Given the description of an element on the screen output the (x, y) to click on. 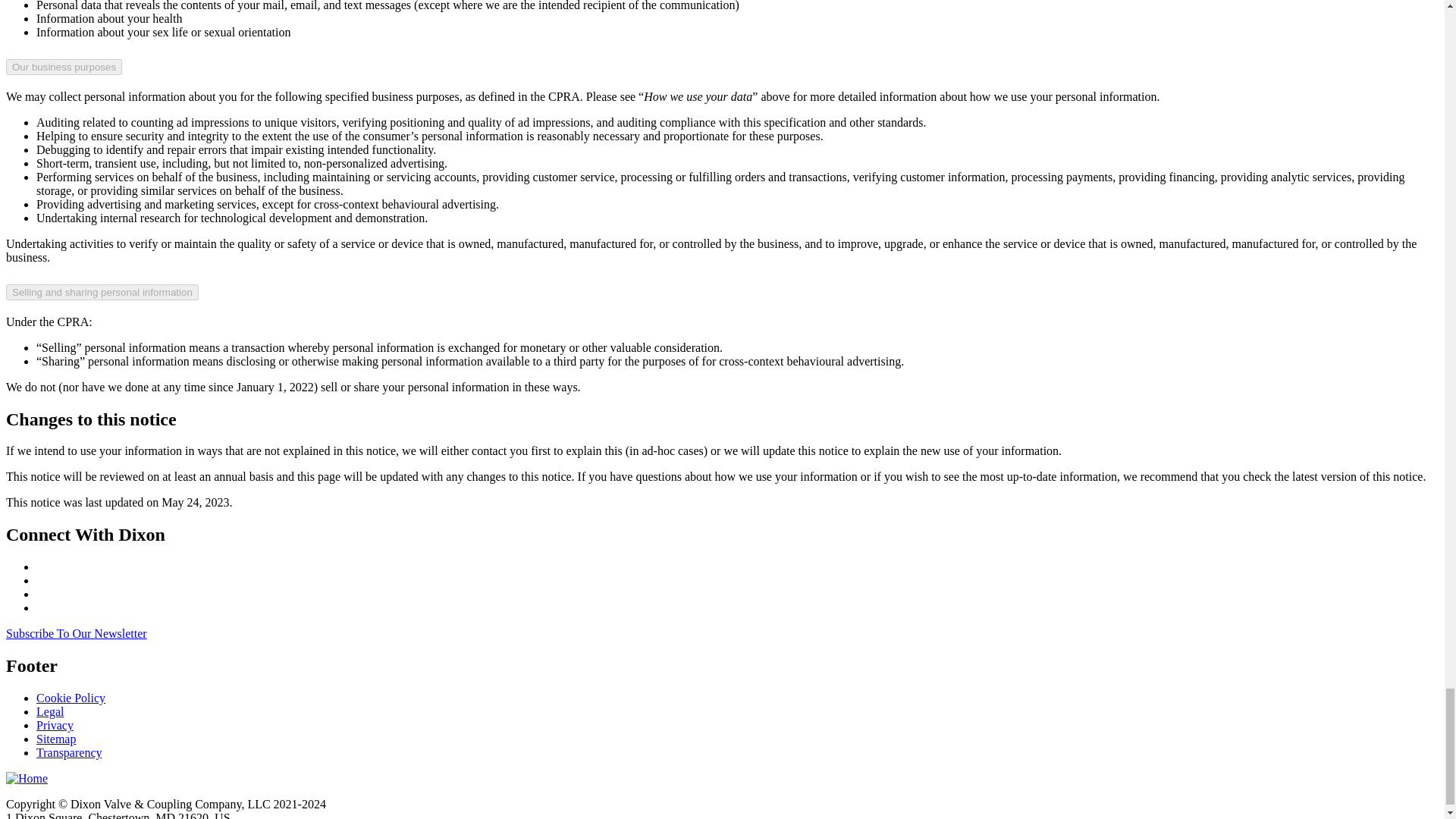
Legal Page (50, 711)
Home (26, 778)
